Given the description of an element on the screen output the (x, y) to click on. 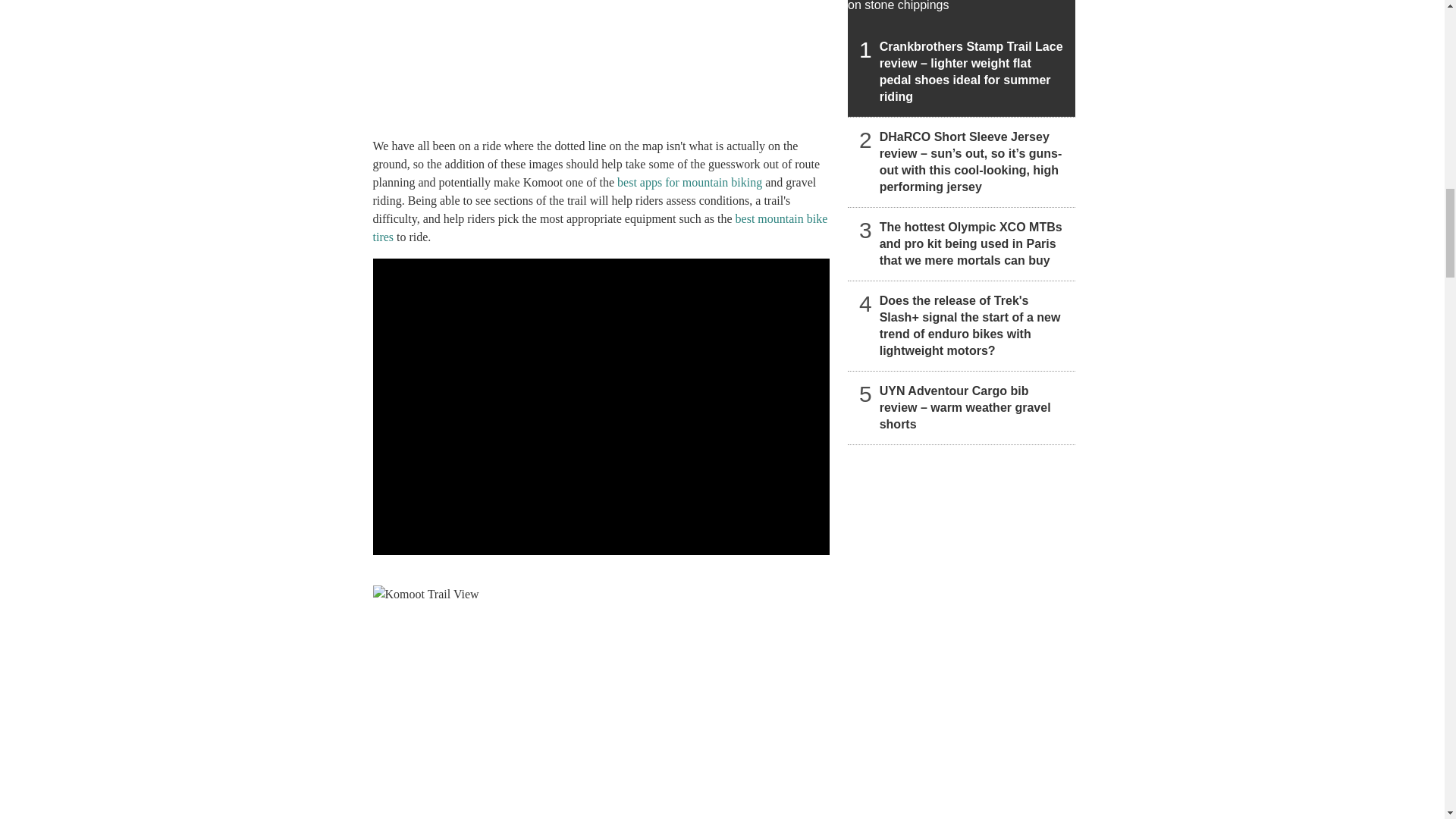
best mountain bike tires (600, 227)
best apps for mountain biking (689, 182)
